Given the description of an element on the screen output the (x, y) to click on. 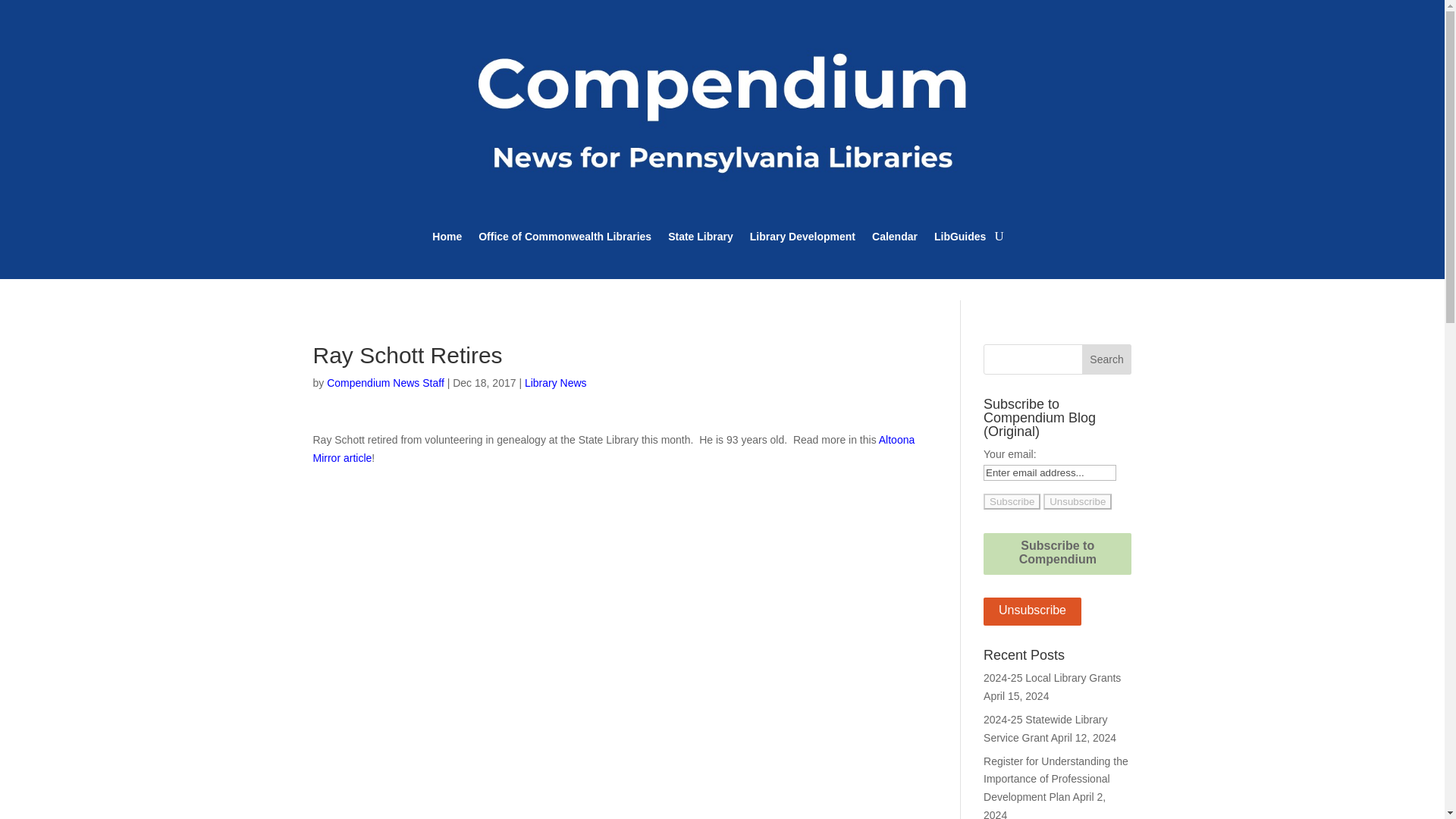
Search (1106, 358)
Enter email address... (1050, 472)
Unsubscribe (1077, 501)
2024-25 Local Library Grants (1052, 677)
Subscribe to Compendium (1057, 553)
2024-25 Statewide Library Service Grant (1045, 728)
Home (446, 239)
Calendar (894, 239)
Compendium News Staff (385, 382)
